Given the description of an element on the screen output the (x, y) to click on. 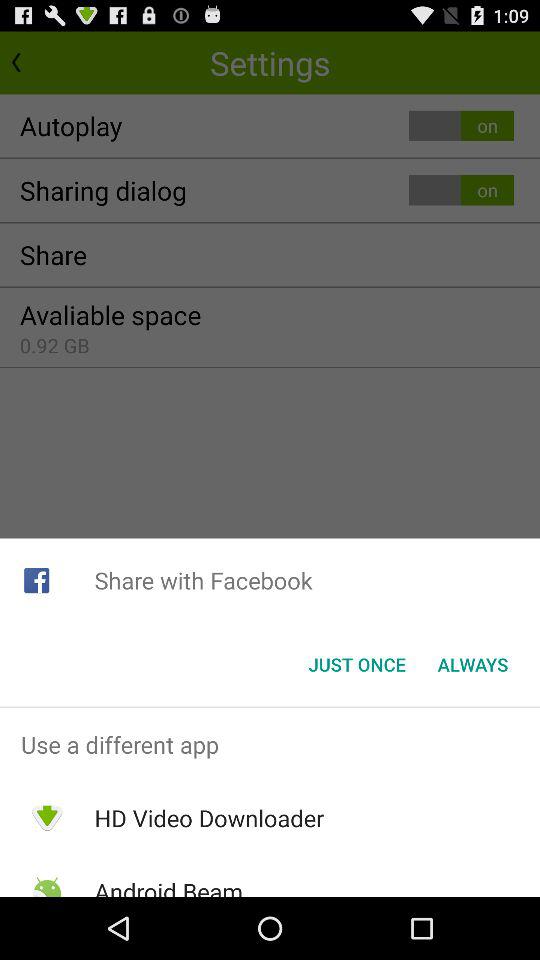
turn off icon to the left of always icon (356, 664)
